Given the description of an element on the screen output the (x, y) to click on. 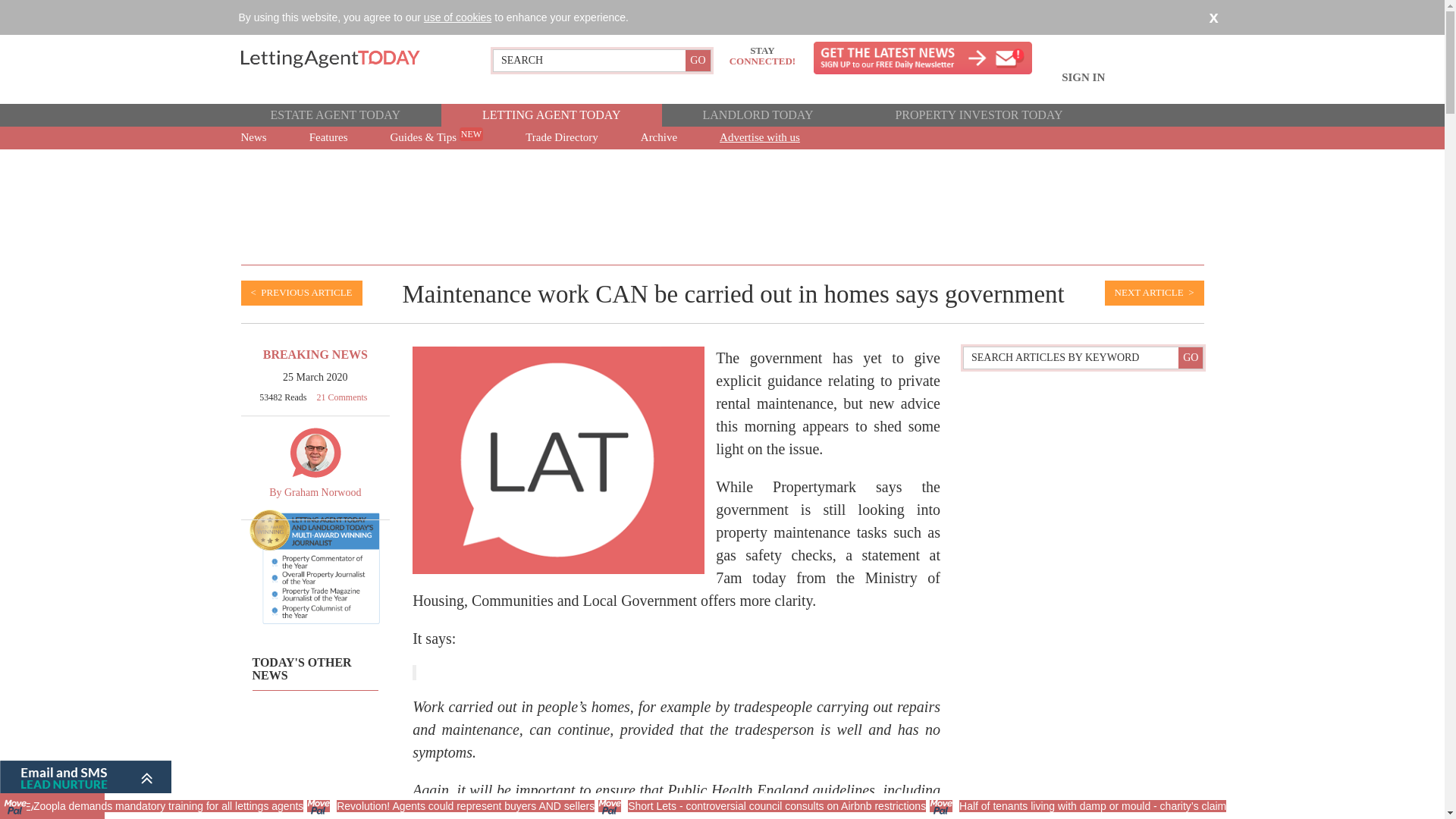
Letting Agent Today (348, 58)
GO (1189, 357)
LETTING AGENT TODAY (551, 115)
Trade Directory (561, 137)
Features (328, 137)
GO (697, 60)
LANDLORD TODAY (757, 115)
GO (697, 60)
use of cookies (457, 17)
News (252, 137)
SIGN IN (1083, 86)
ESTATE AGENT TODAY (334, 115)
PROPERTY INVESTOR TODAY (978, 115)
Advertise with us (759, 137)
Archive (658, 137)
